Given the description of an element on the screen output the (x, y) to click on. 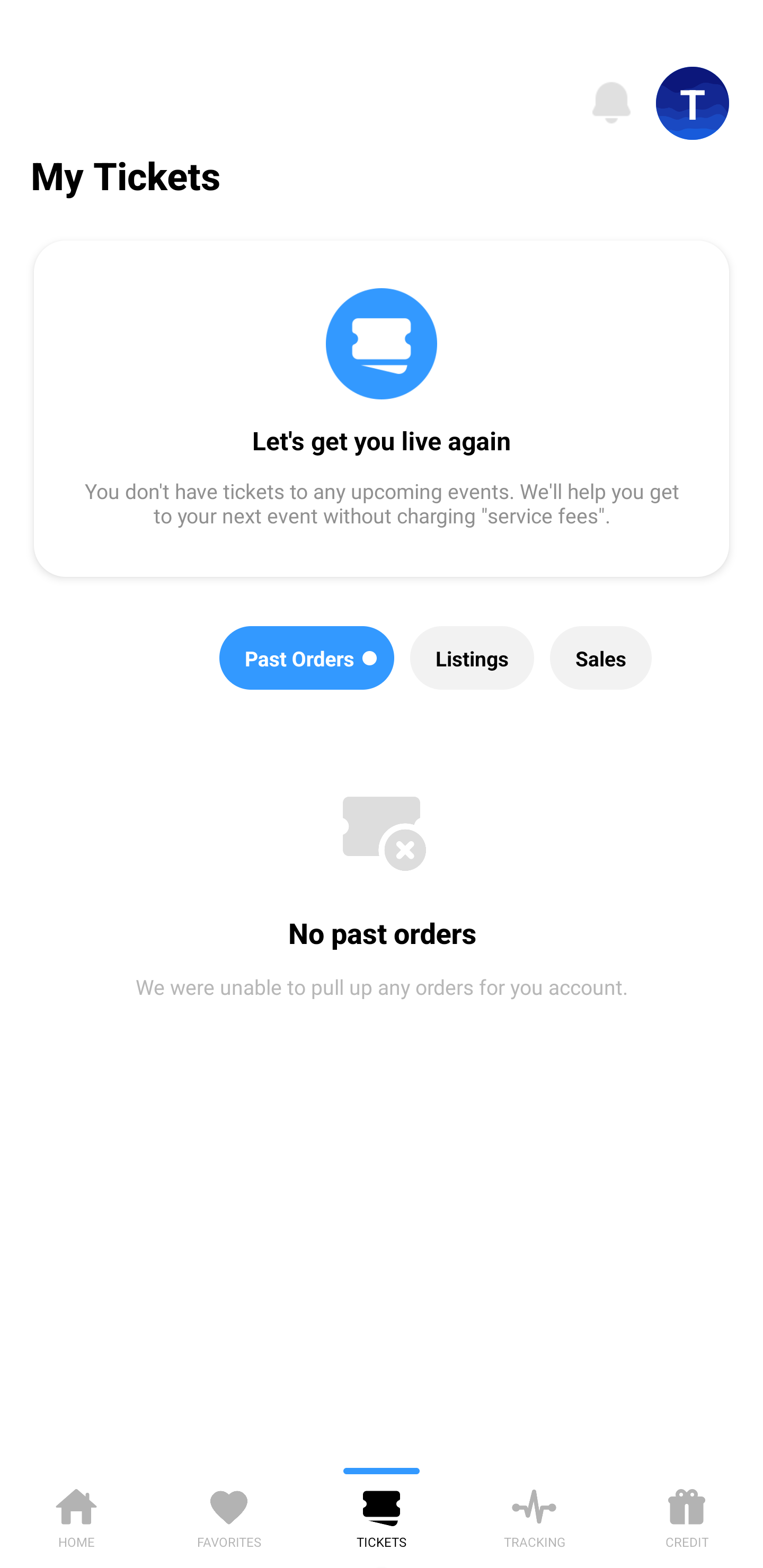
T (692, 103)
Past Orders (306, 657)
Listings (472, 657)
Sales (600, 657)
HOME (76, 1515)
FAVORITES (228, 1515)
TICKETS (381, 1515)
TRACKING (533, 1515)
CREDIT (686, 1515)
